Given the description of an element on the screen output the (x, y) to click on. 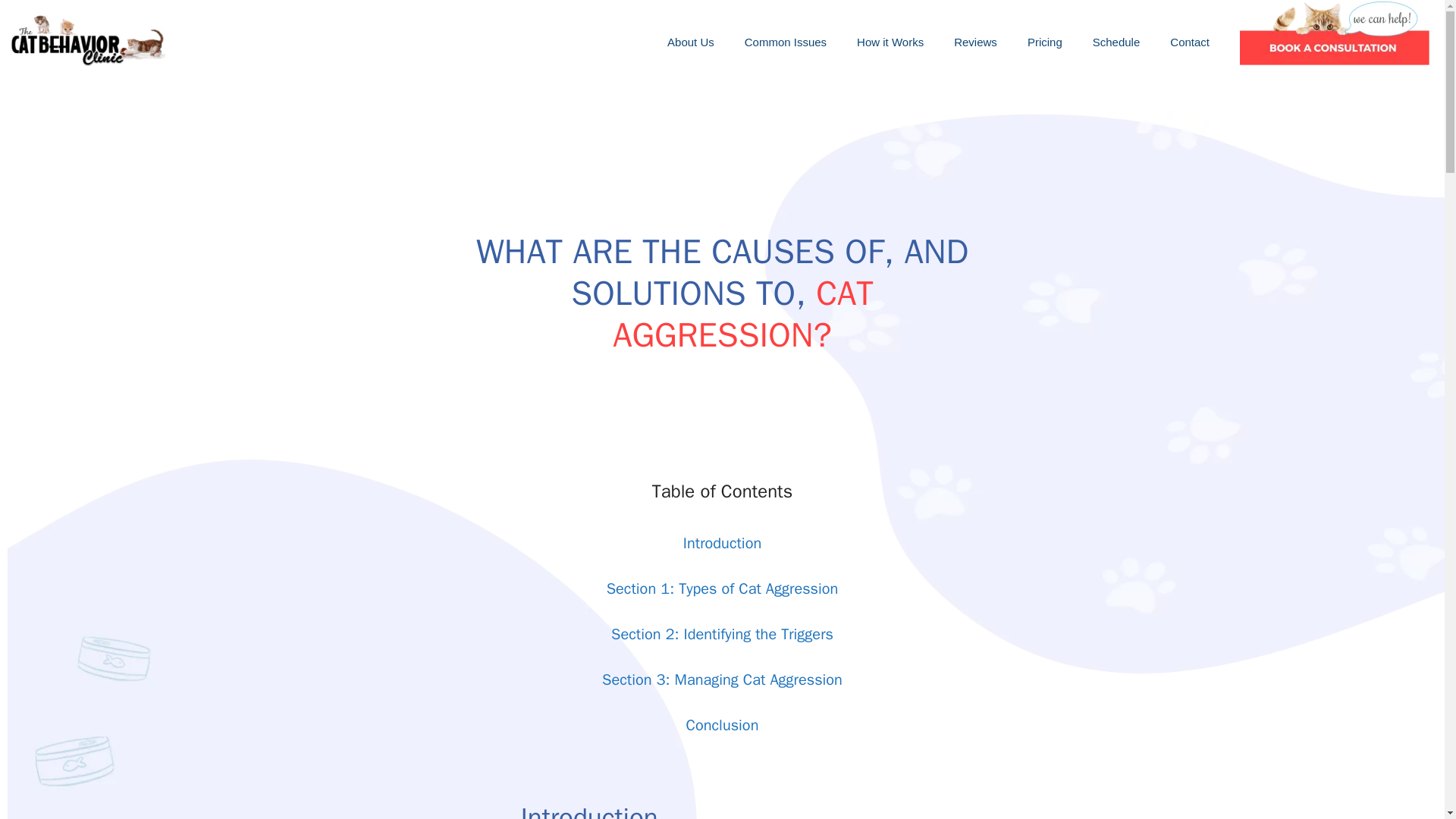
Section 2: Identifying the Triggers (721, 633)
Pricing (1044, 42)
Section 3: Managing Cat Aggression (722, 679)
How it Works (890, 42)
Contact (1189, 42)
Section 1: Types of Cat Aggression (722, 588)
Conclusion (721, 724)
Schedule (1116, 42)
Cat Behaviorist and Cat Trainer (90, 41)
About Us (690, 42)
